Given the description of an element on the screen output the (x, y) to click on. 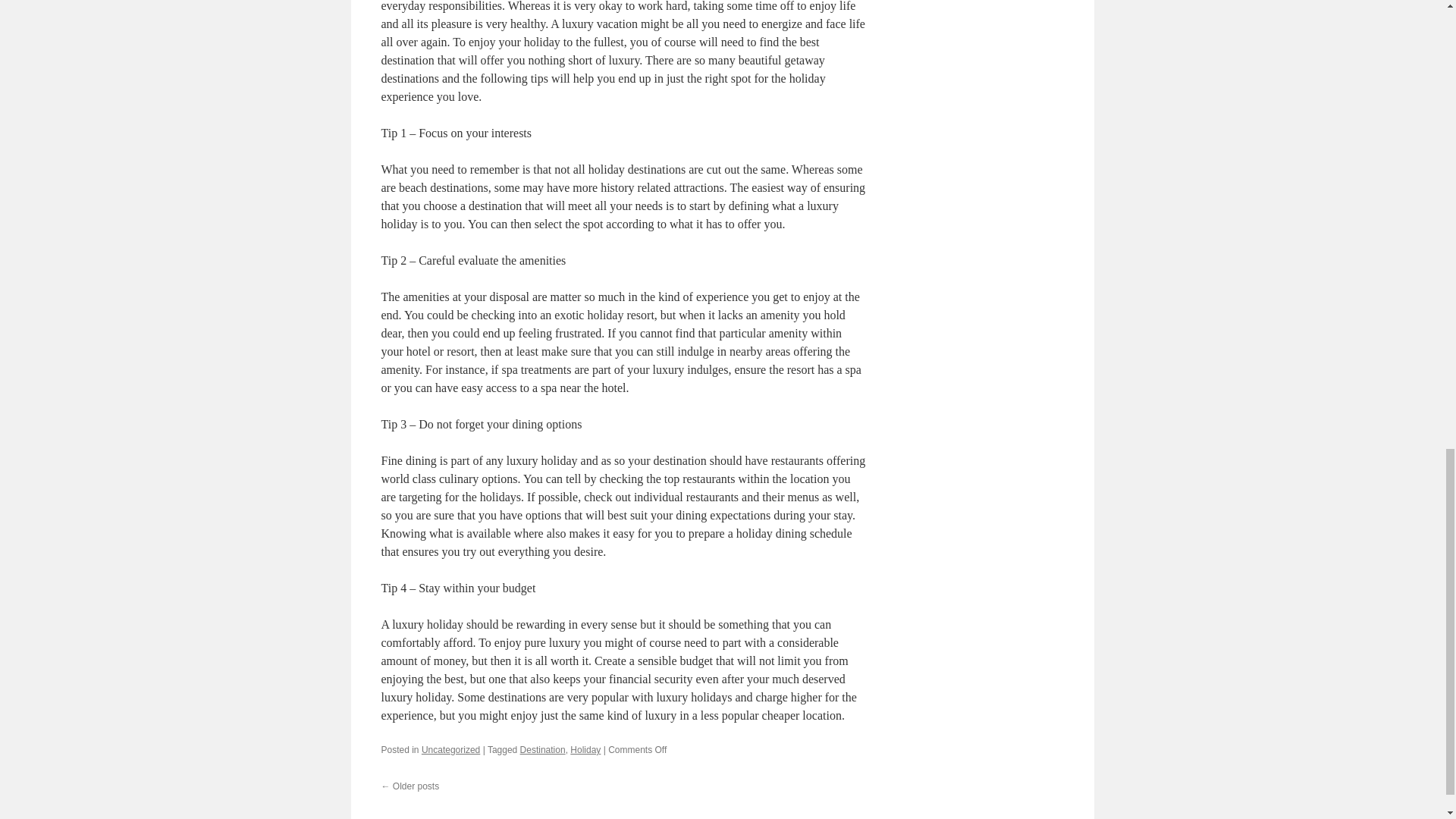
Holiday (584, 749)
Uncategorized (451, 749)
View all posts in Uncategorized (451, 749)
Destination (542, 749)
